Given the description of an element on the screen output the (x, y) to click on. 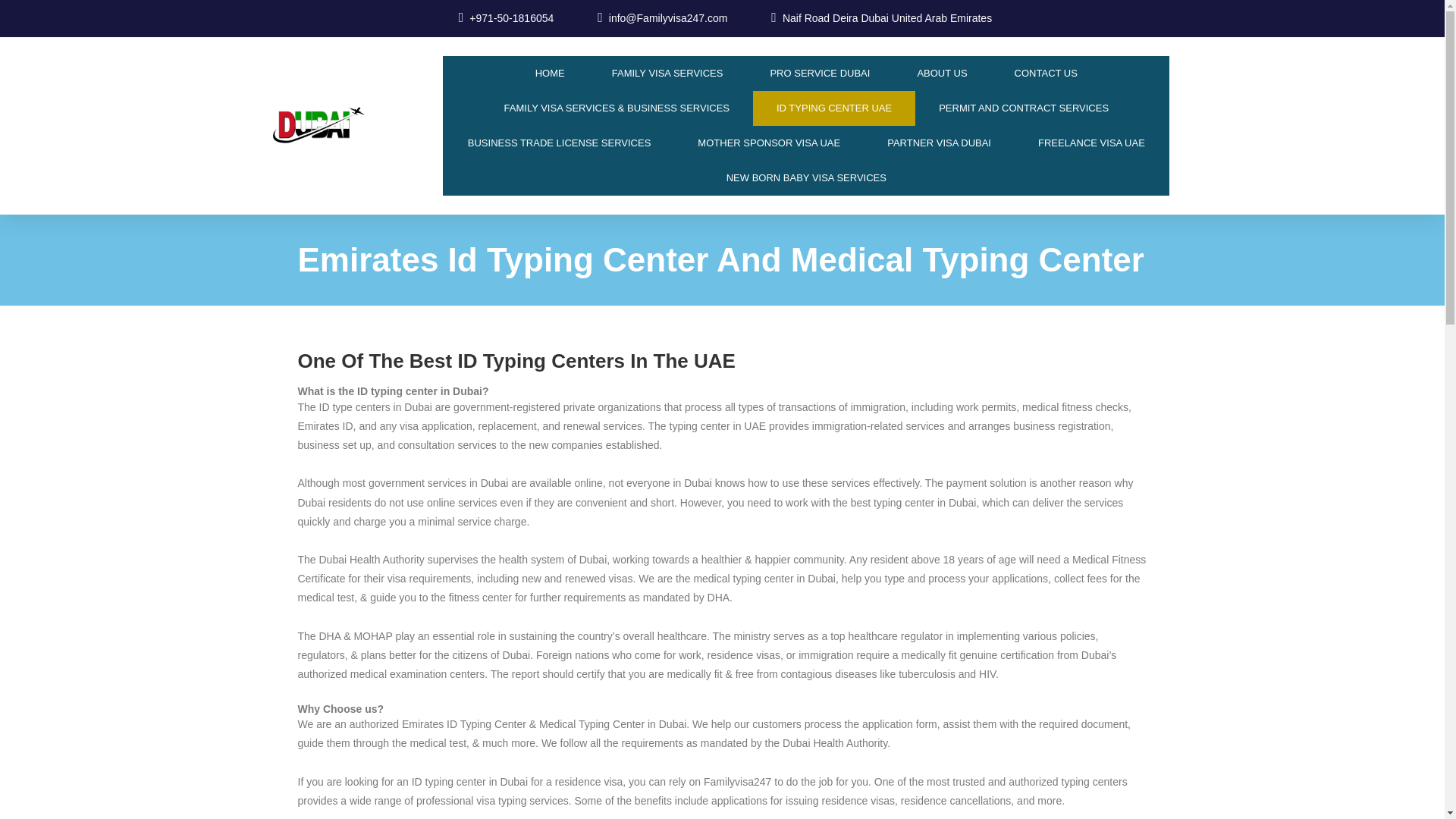
PERMIT AND CONTRACT SERVICES (1023, 108)
NEW BORN BABY VISA SERVICES (806, 177)
MOTHER SPONSOR VISA UAE (768, 143)
FREELANCE VISA UAE (1091, 143)
PARTNER VISA DUBAI (938, 143)
CONTACT US (1045, 73)
ID TYPING CENTER UAE (833, 108)
ABOUT US (941, 73)
FAMILY VISA SERVICES (667, 73)
PRO SERVICE DUBAI (819, 73)
HOME (550, 73)
BUSINESS TRADE LICENSE SERVICES (559, 143)
